Given the description of an element on the screen output the (x, y) to click on. 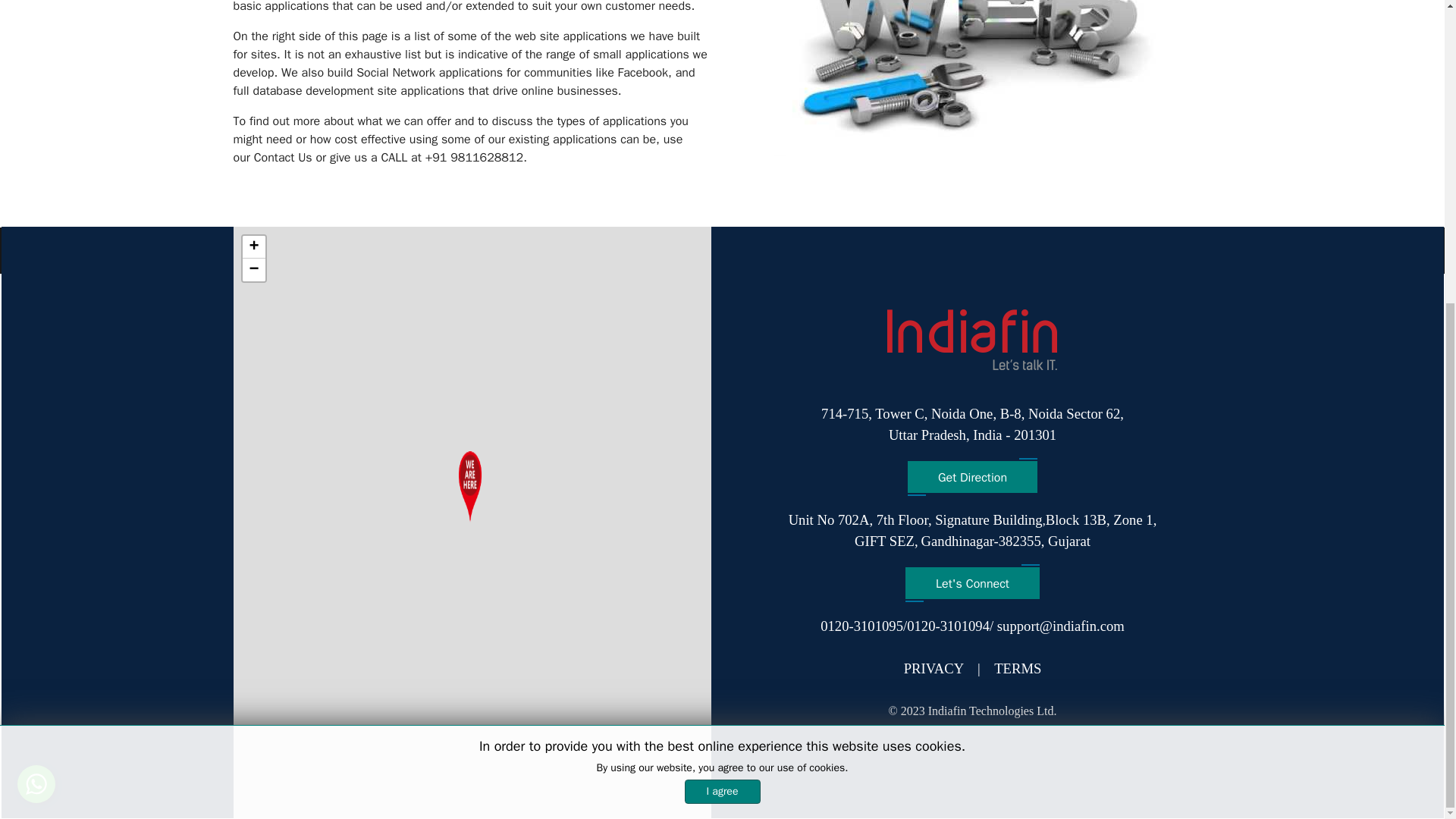
Zoom in (253, 246)
Get Direction (971, 477)
TERMS (1006, 424)
Zoom out (1017, 668)
India - 201301 (253, 269)
PRIVACY    (1014, 435)
714-715, Tower C, Noida One, B-8, (939, 668)
Let's Connect (923, 413)
